Given the description of an element on the screen output the (x, y) to click on. 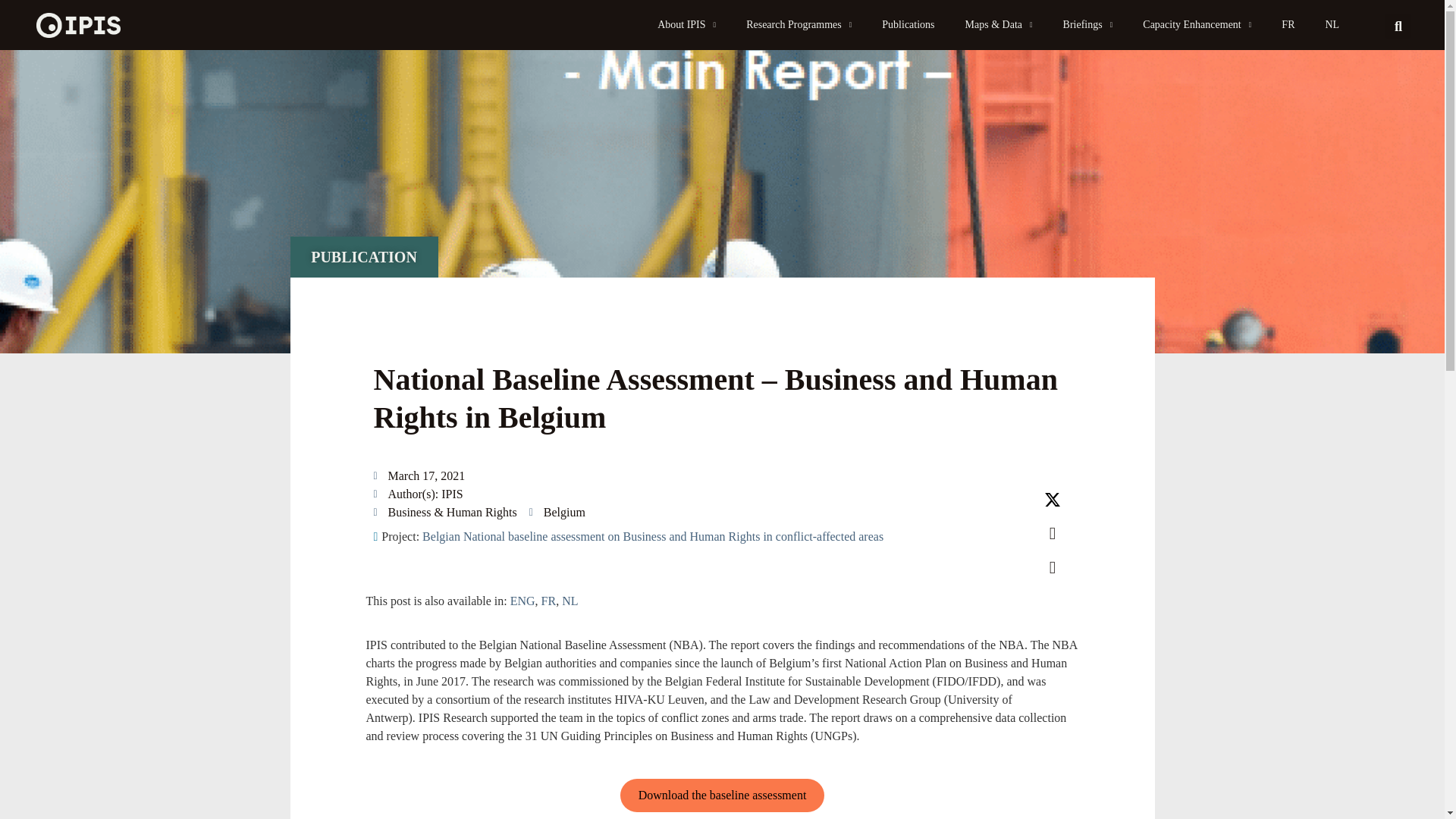
FR (1287, 24)
FR (1287, 24)
NL (1331, 24)
Research Programmes (798, 24)
Briefings (1088, 24)
Capacity Enhancement (1196, 24)
Publications (907, 24)
About IPIS (686, 24)
NL (1331, 24)
